Given the description of an element on the screen output the (x, y) to click on. 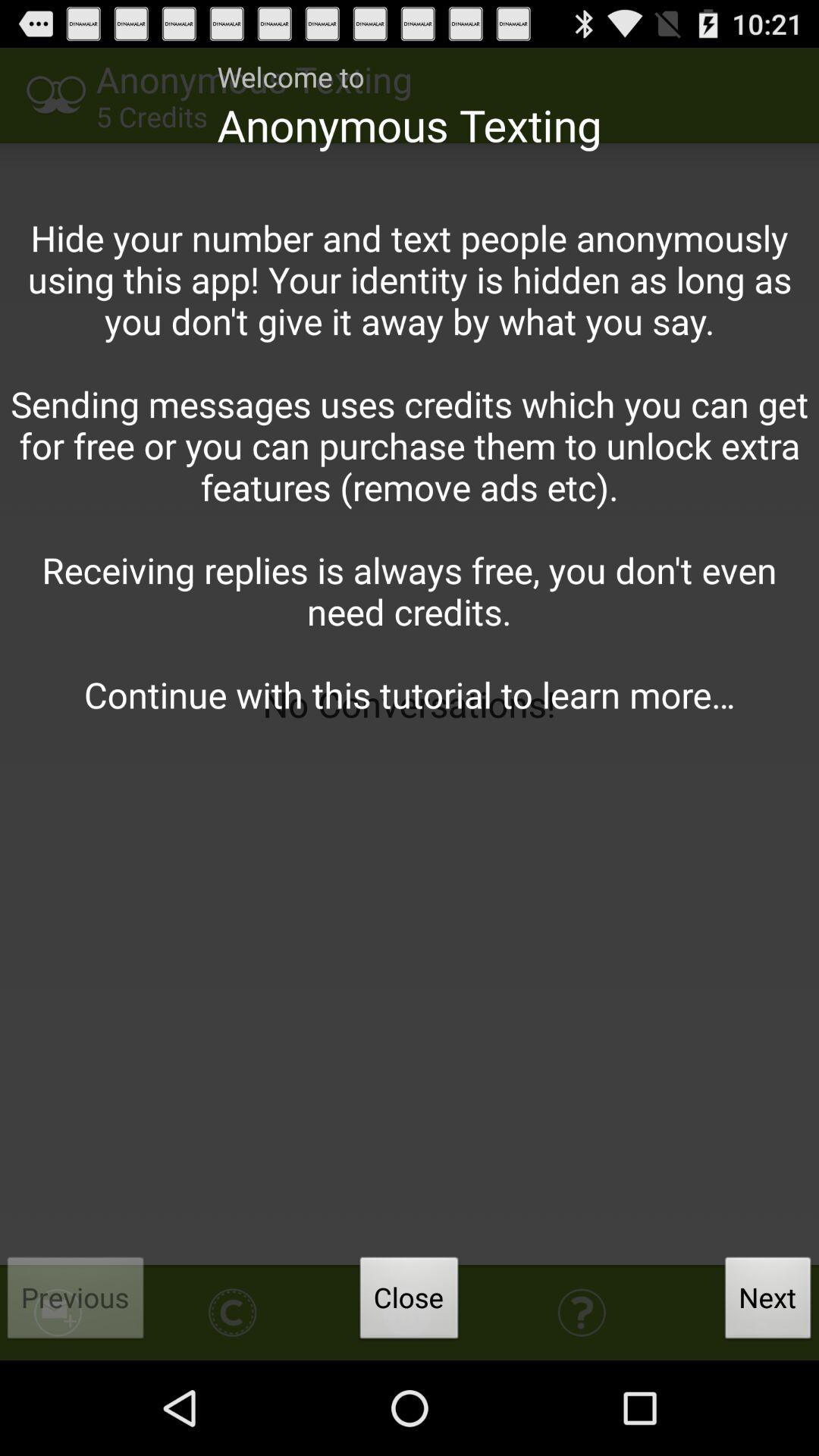
choose the button next to close item (768, 1302)
